Given the description of an element on the screen output the (x, y) to click on. 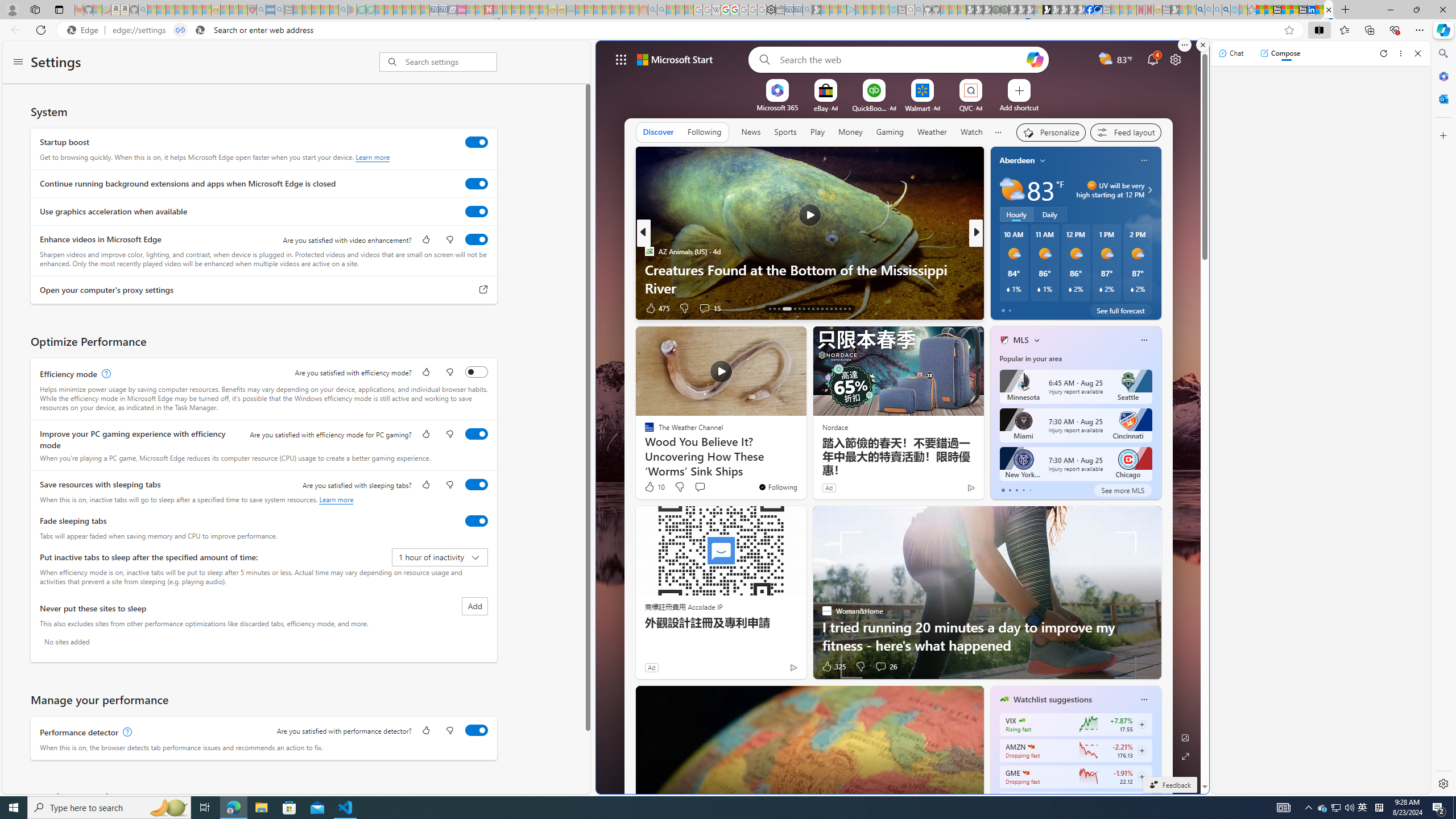
LendingTree (1013, 250)
Settings menu (18, 62)
152 Like (1007, 307)
325 Like (833, 666)
Which foods have the most plastics? You may be surprised (1159, 278)
Fade sleeping tabs (476, 520)
AutomationID: tab-23 (821, 308)
Future Focus Report 2024 - Sleeping (1004, 9)
Secret History (999, 269)
Startup boost (476, 142)
